Given the description of an element on the screen output the (x, y) to click on. 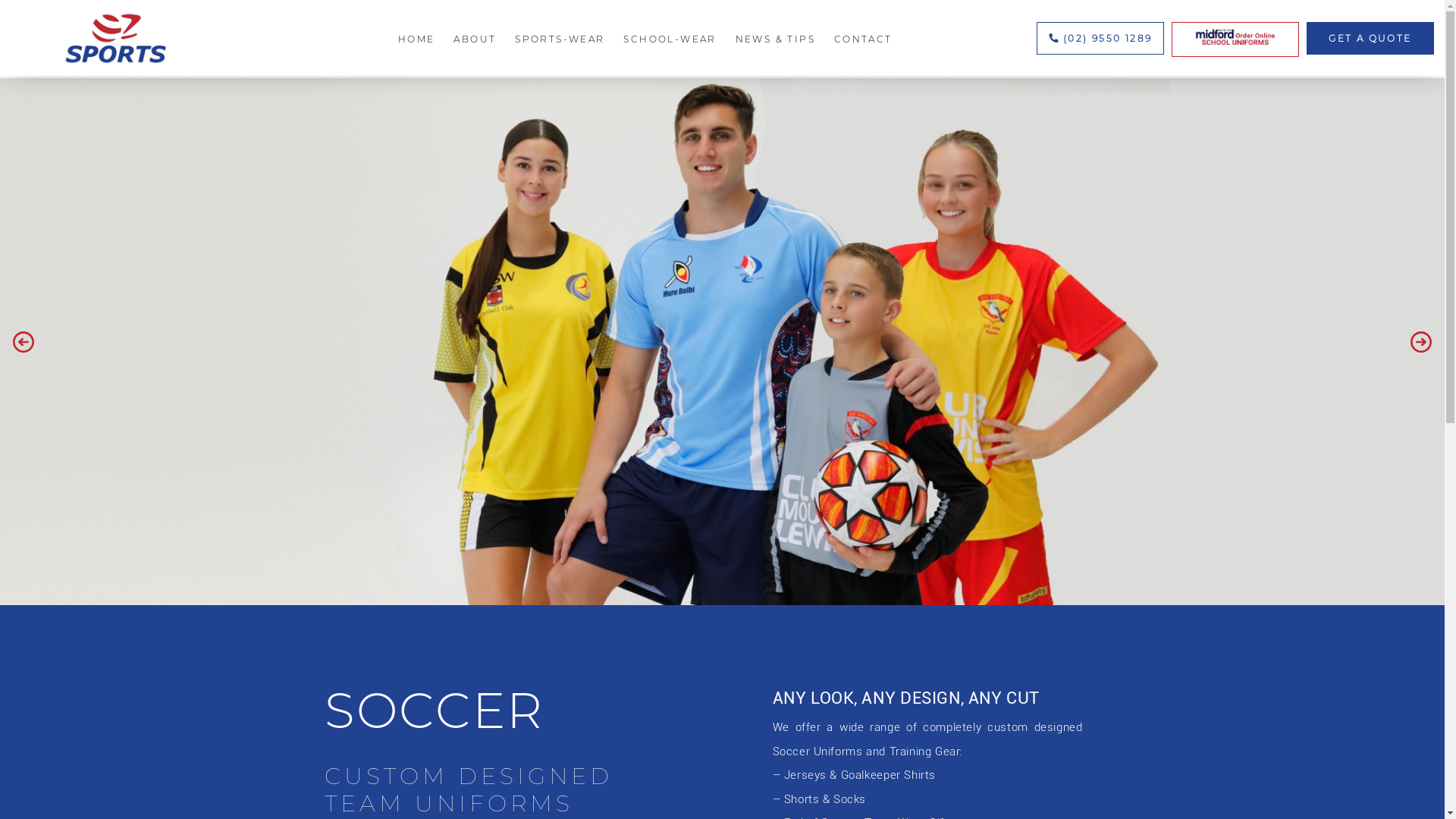
CONTACT Element type: text (863, 38)
SCHOOL-WEAR Element type: text (669, 38)
ABOUT Element type: text (474, 38)
SPORTS-WEAR Element type: text (559, 38)
HOME Element type: text (416, 38)
GET A QUOTE Element type: text (1370, 37)
NEWS & TIPS Element type: text (775, 38)
(02) 9550 1289 Element type: text (1100, 37)
